Given the description of an element on the screen output the (x, y) to click on. 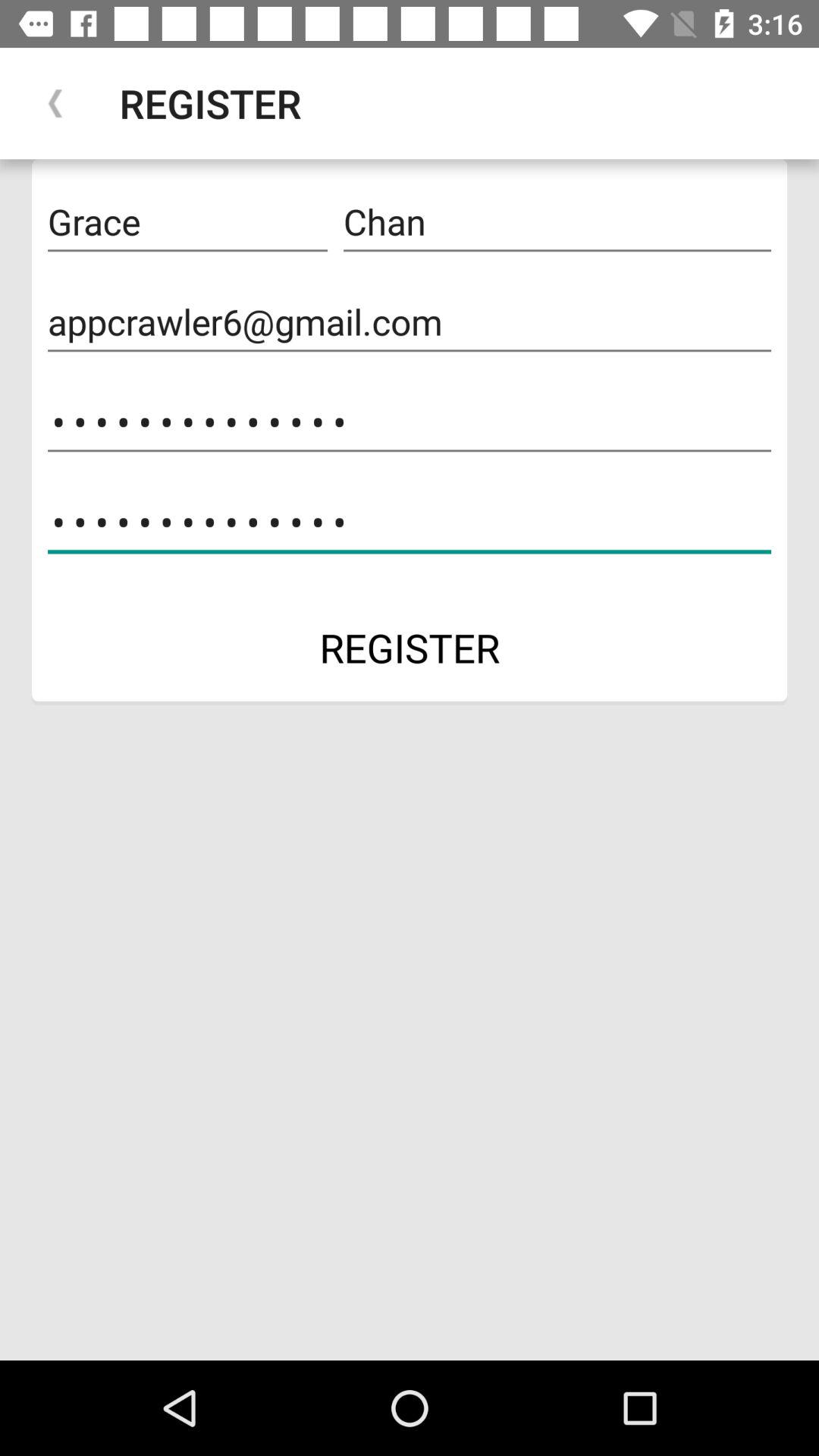
click item above the appcrawler3116 item (409, 322)
